Given the description of an element on the screen output the (x, y) to click on. 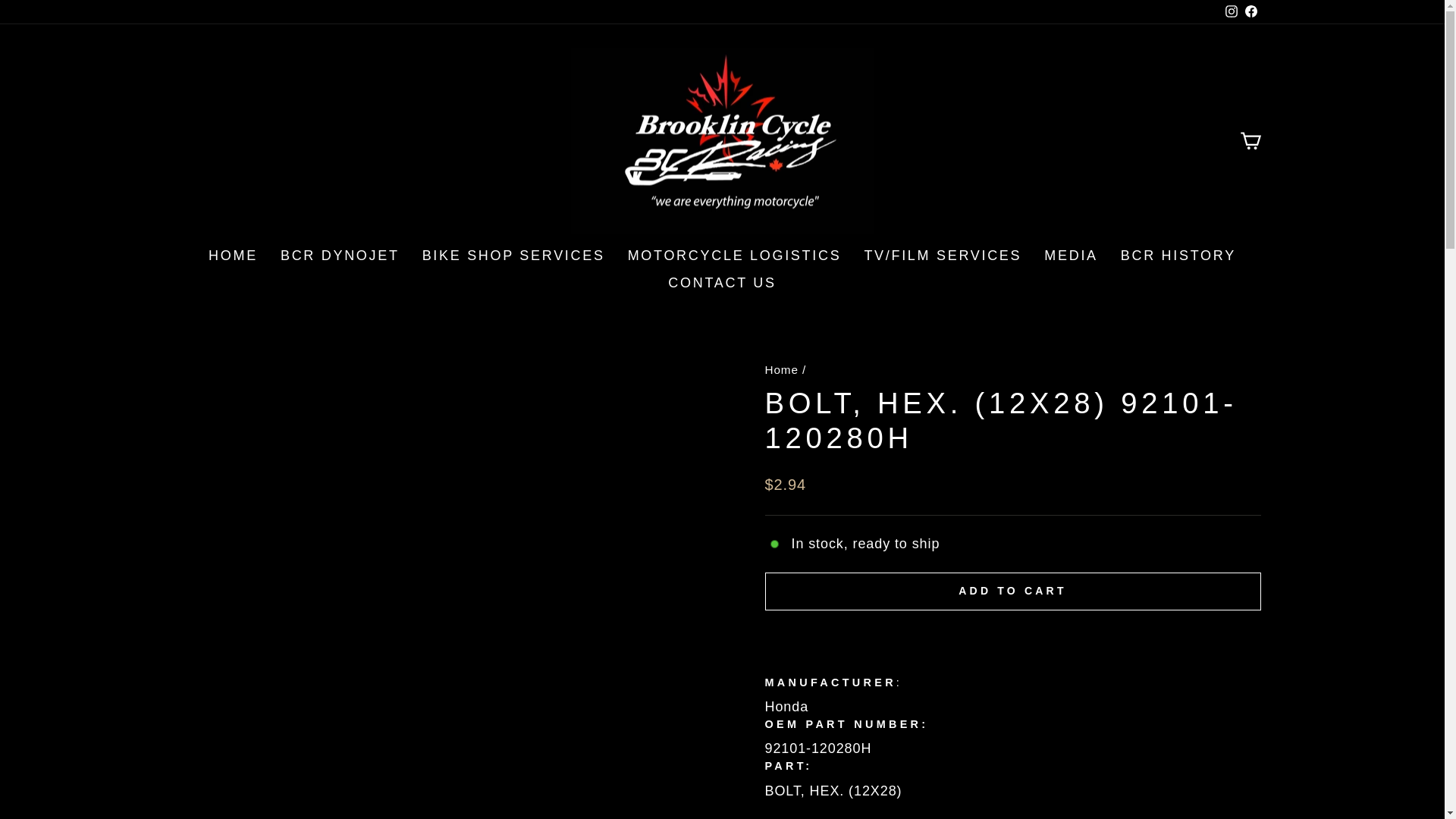
HOME (232, 255)
CART (1249, 140)
BCR HISTORY (1178, 255)
Home (780, 369)
CONTACT US (721, 284)
Back to the frontpage (780, 369)
MEDIA (1070, 255)
BIKE SHOP SERVICES (512, 255)
MOTORCYCLE LOGISTICS (734, 255)
ADD TO CART (1012, 591)
BCR DYNOJET (339, 255)
